Given the description of an element on the screen output the (x, y) to click on. 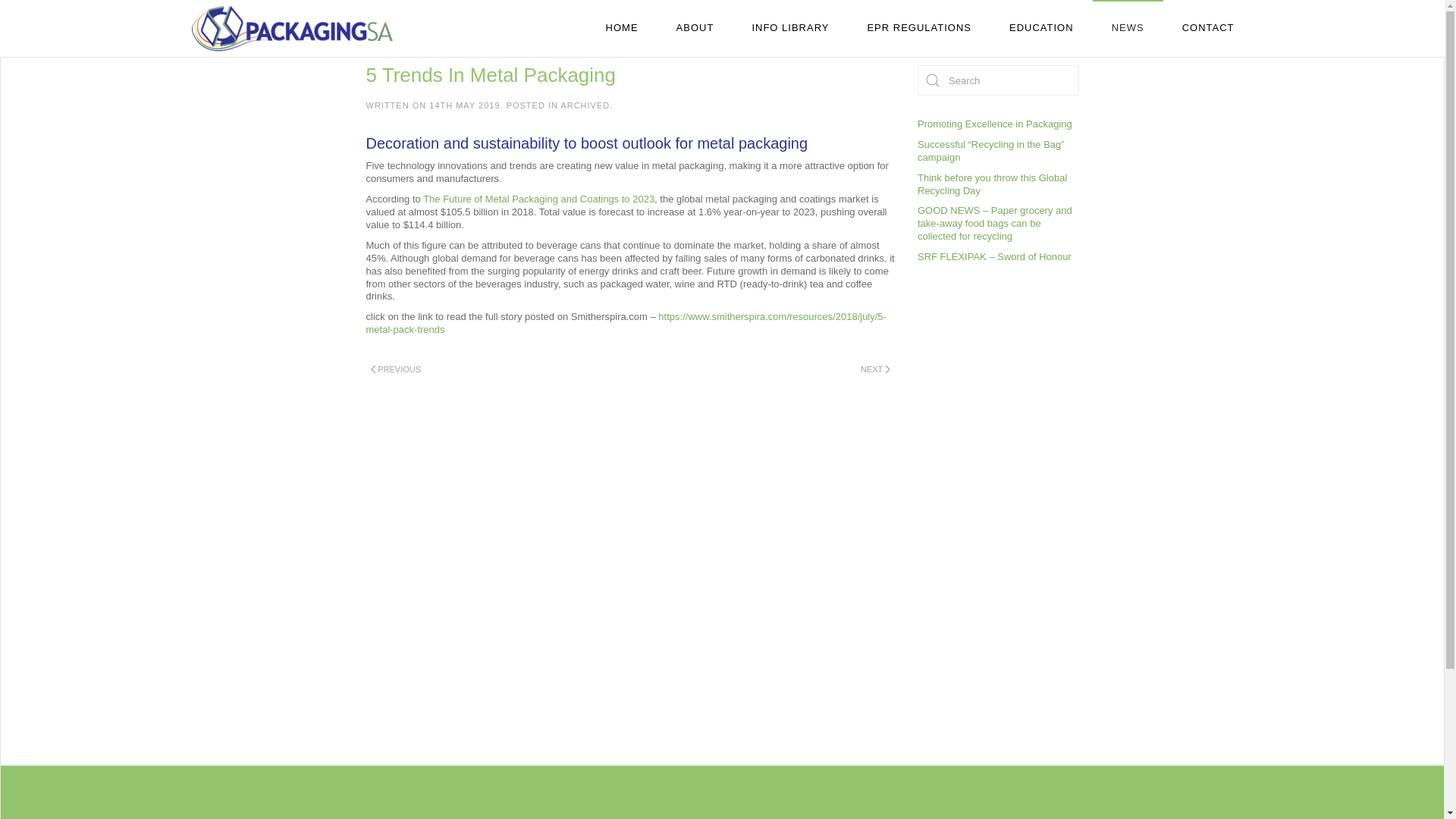
ABOUT (695, 28)
INFO LIBRARY (789, 28)
HOME (622, 28)
